Given the description of an element on the screen output the (x, y) to click on. 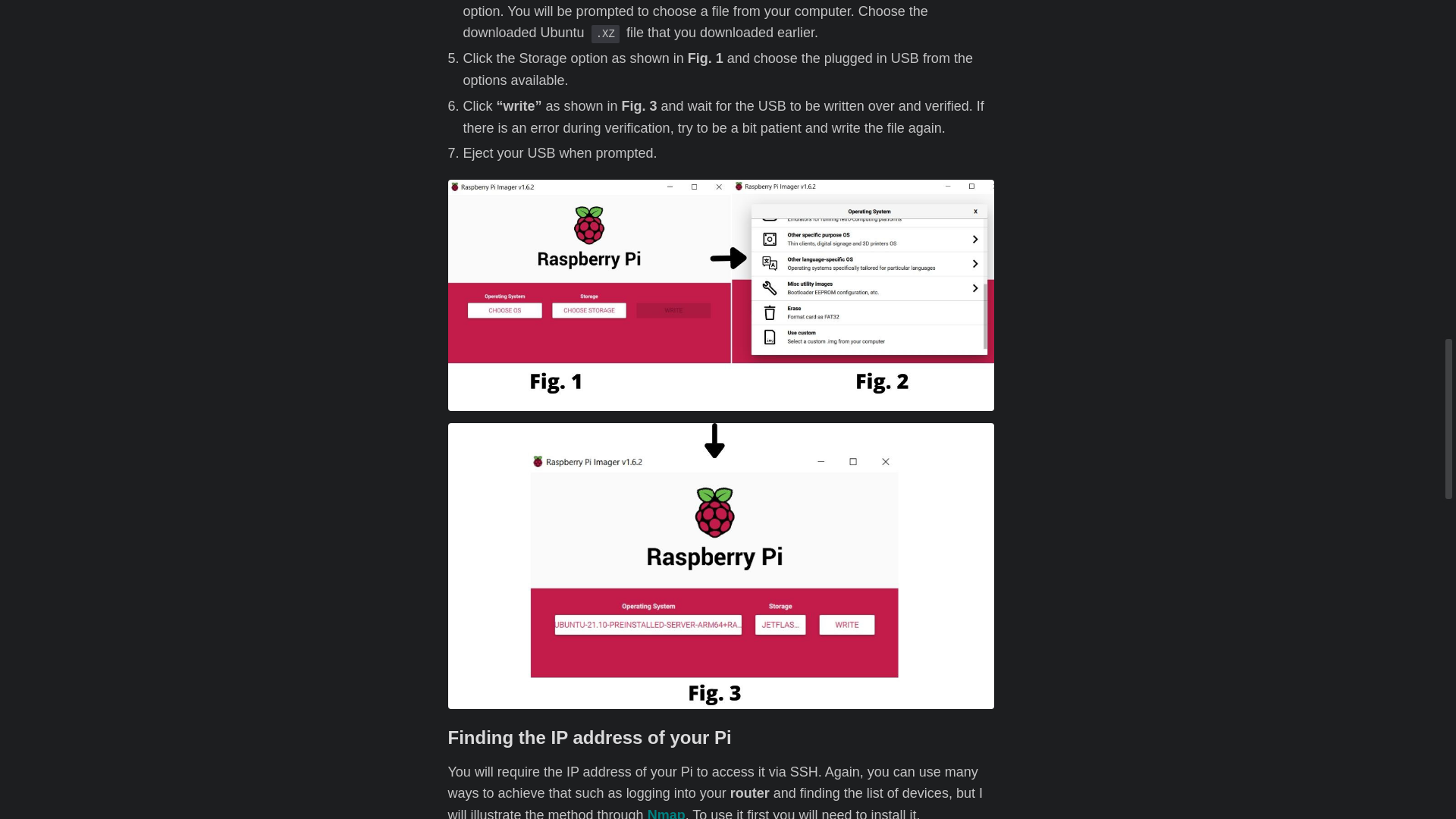
Nmap (666, 813)
